Given the description of an element on the screen output the (x, y) to click on. 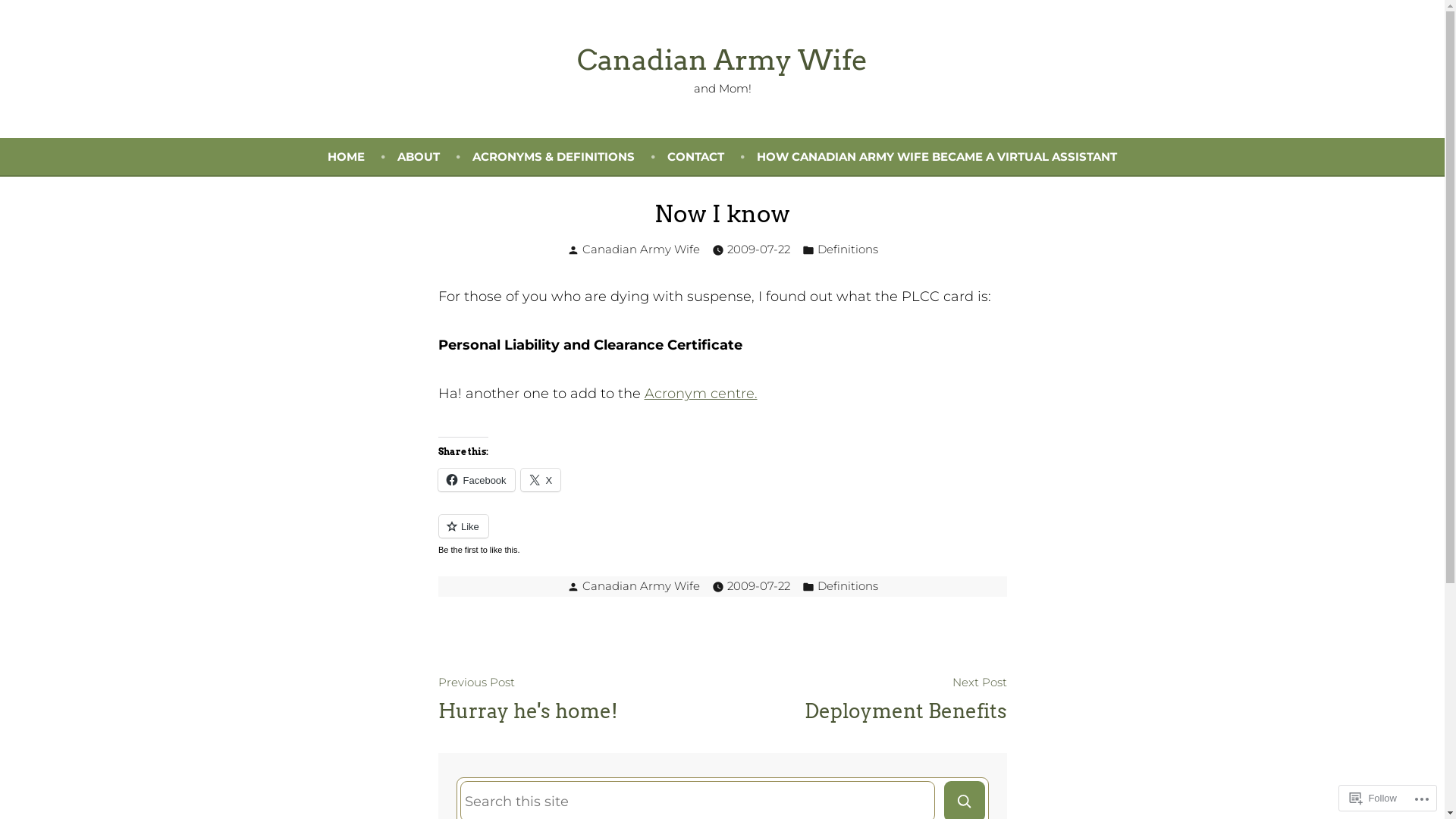
ABOUT Element type: text (434, 156)
Follow Element type: text (1372, 797)
X Element type: text (540, 479)
Definitions Element type: text (847, 586)
Canadian Army Wife Element type: text (640, 585)
Canadian Army Wife Element type: text (722, 59)
HOME Element type: text (362, 156)
Previous Post

Hurray he's home! Element type: text (528, 697)
Facebook Element type: text (476, 479)
Acronym centre. Element type: text (700, 393)
2009-07-22 Element type: text (757, 586)
Like or Reblog Element type: hover (722, 534)
ACRONYMS & DEFINITIONS Element type: text (569, 156)
Next Post

Deployment Benefits Element type: text (904, 697)
Canadian Army Wife Element type: text (640, 248)
2009-07-22 Element type: text (757, 249)
Definitions Element type: text (847, 249)
CONTACT Element type: text (711, 156)
HOW CANADIAN ARMY WIFE BECAME A VIRTUAL ASSISTANT Element type: text (936, 156)
